Given the description of an element on the screen output the (x, y) to click on. 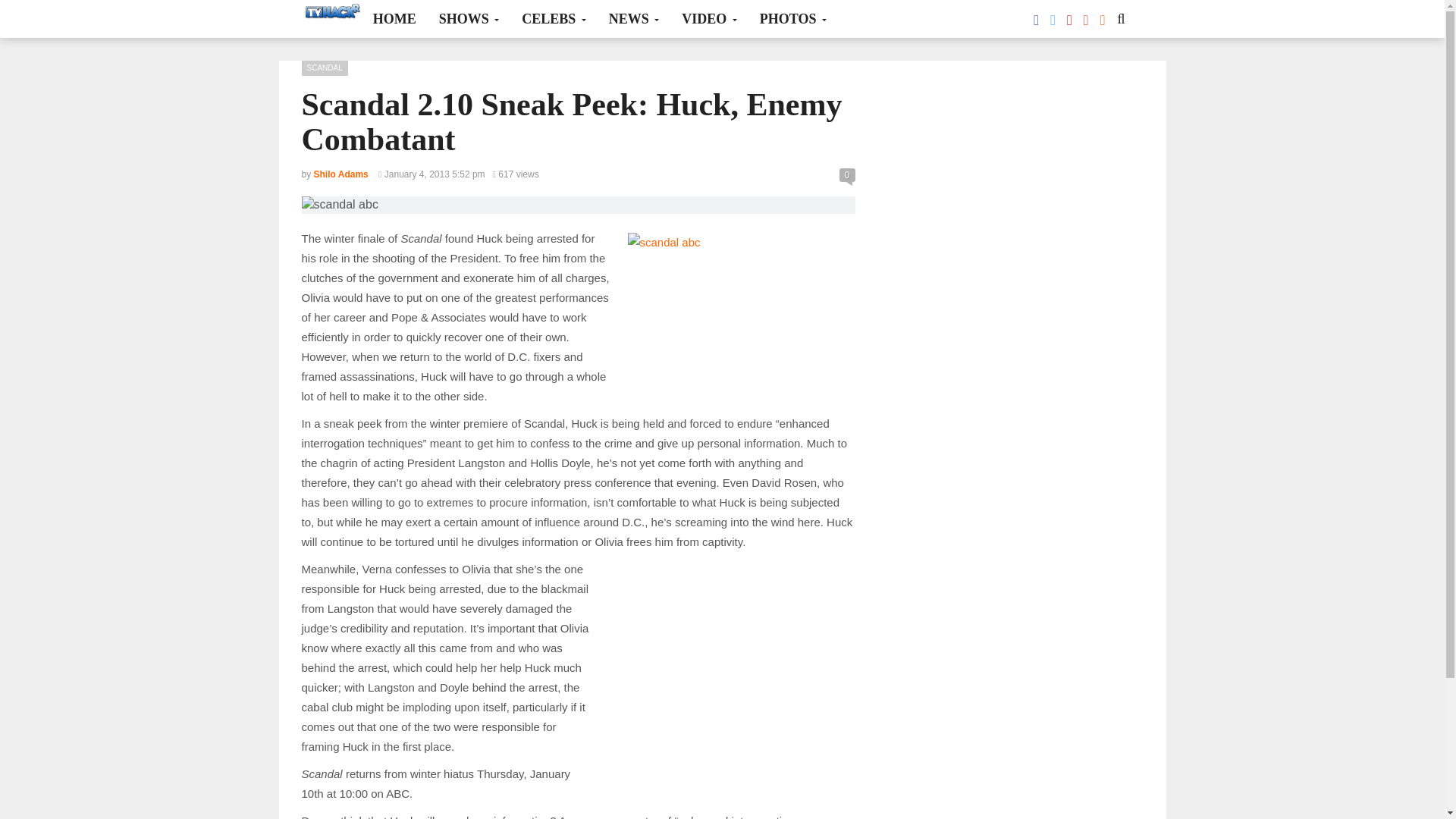
TVHackr - The Latest TV News, Episodes, Prizes, and More (331, 13)
NEWS (633, 18)
HOME (394, 18)
VIDEO (708, 18)
CELEBS (553, 18)
SHOWS (469, 18)
